Given the description of an element on the screen output the (x, y) to click on. 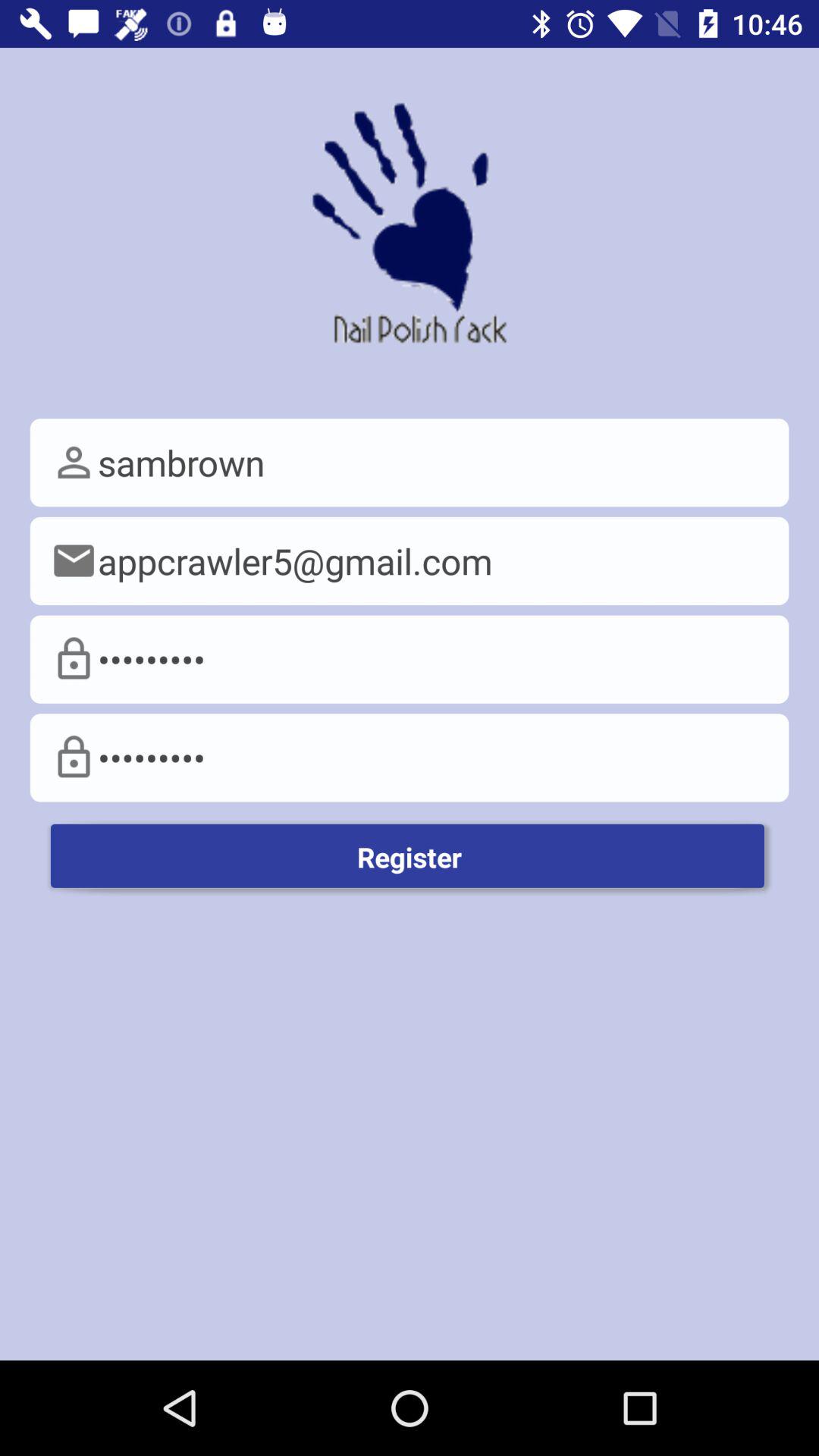
tap item below sambrown (409, 560)
